Given the description of an element on the screen output the (x, y) to click on. 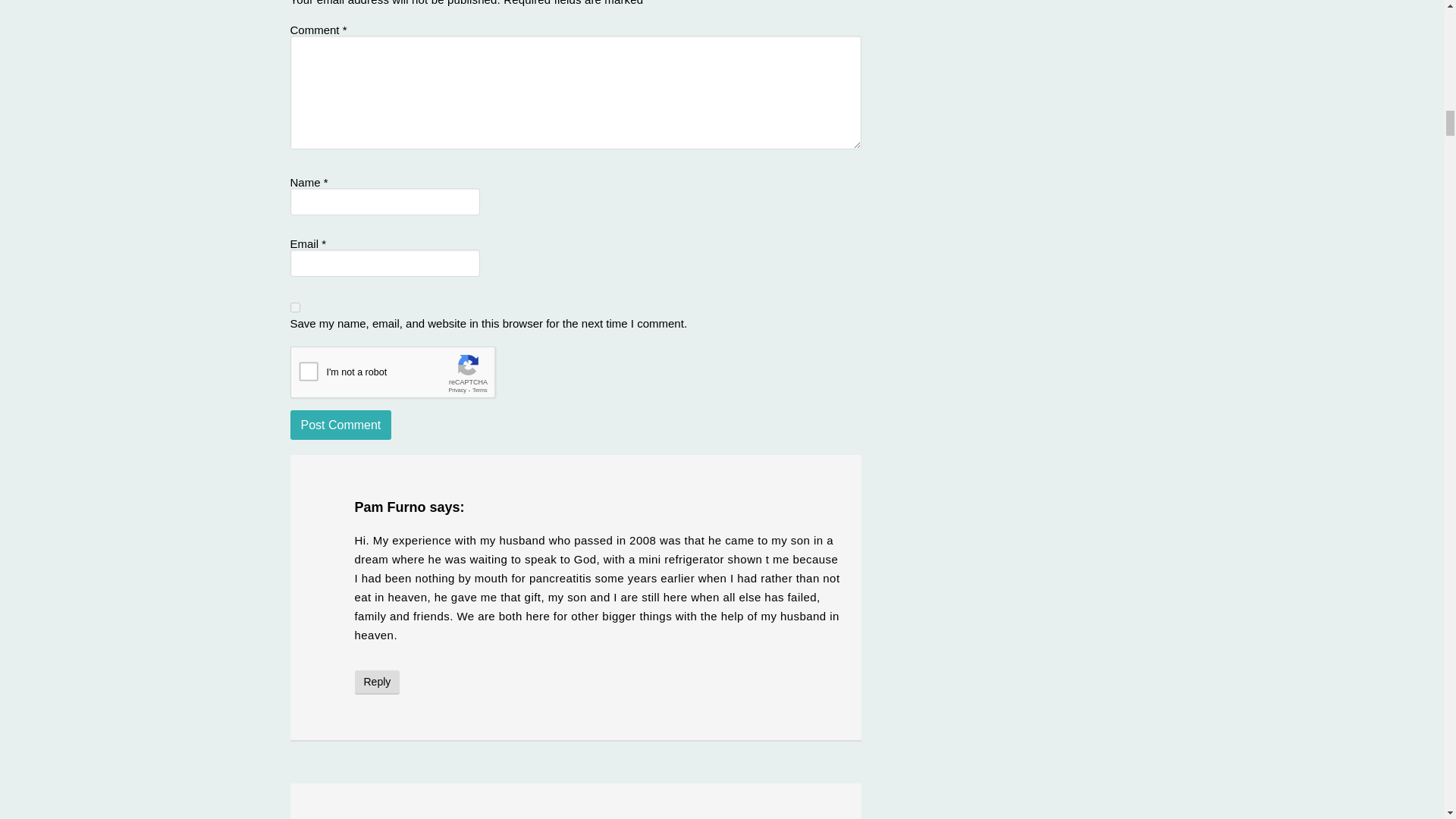
reCAPTCHA (404, 375)
yes (294, 307)
Post Comment (340, 424)
